Given the description of an element on the screen output the (x, y) to click on. 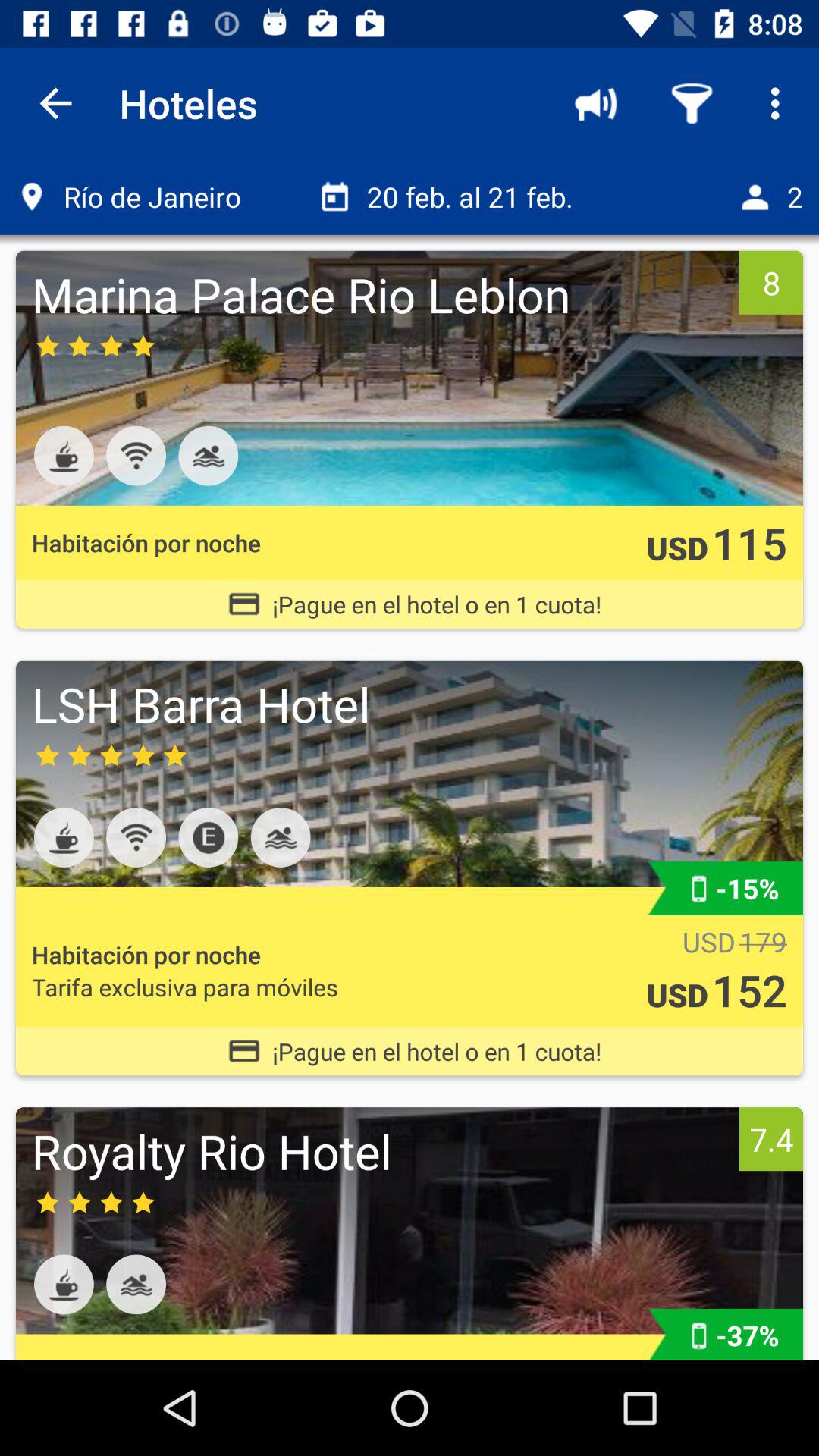
select icon below the usd icon (749, 989)
